Given the description of an element on the screen output the (x, y) to click on. 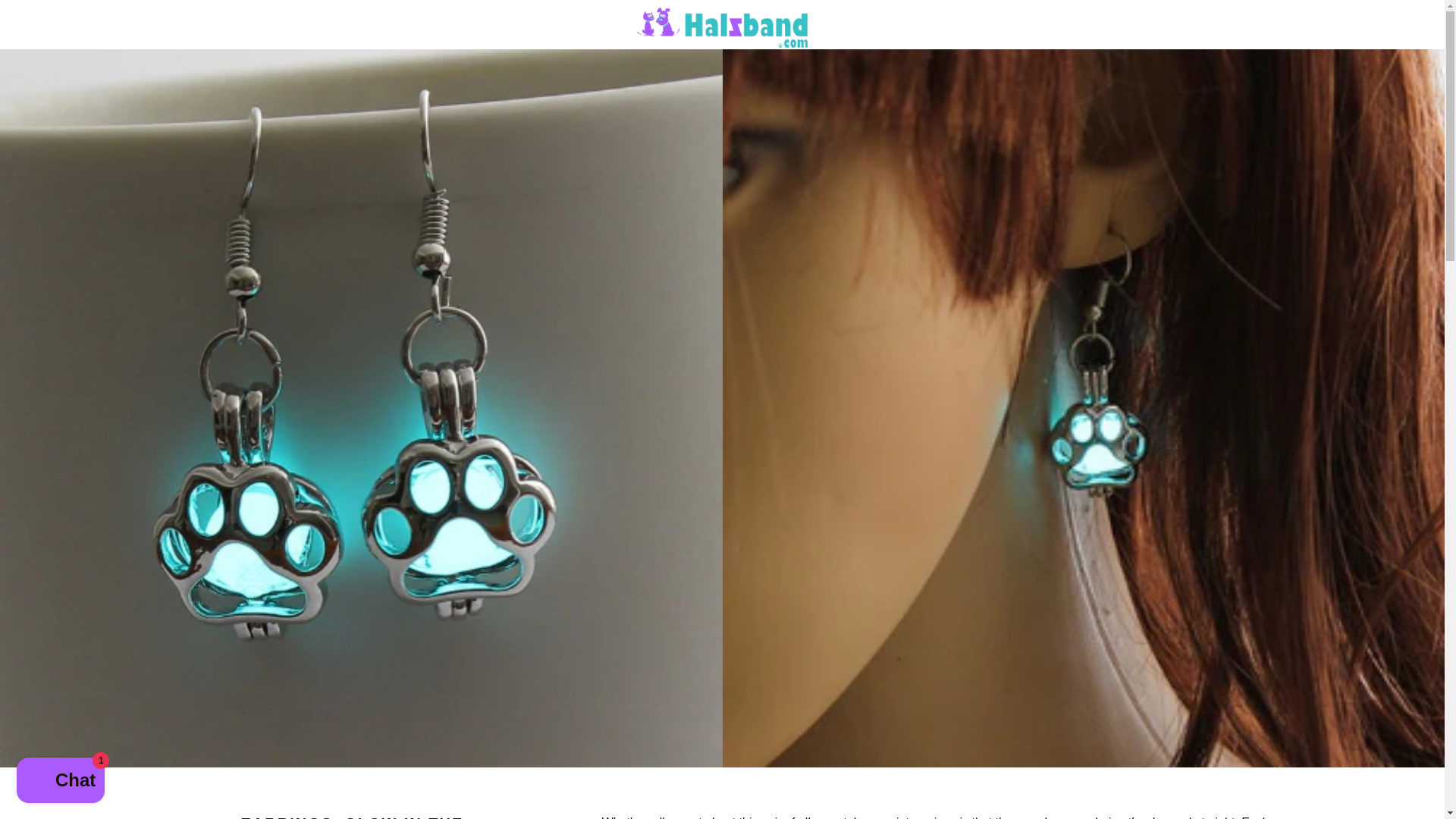
Shopify online store chat (60, 781)
